Given the description of an element on the screen output the (x, y) to click on. 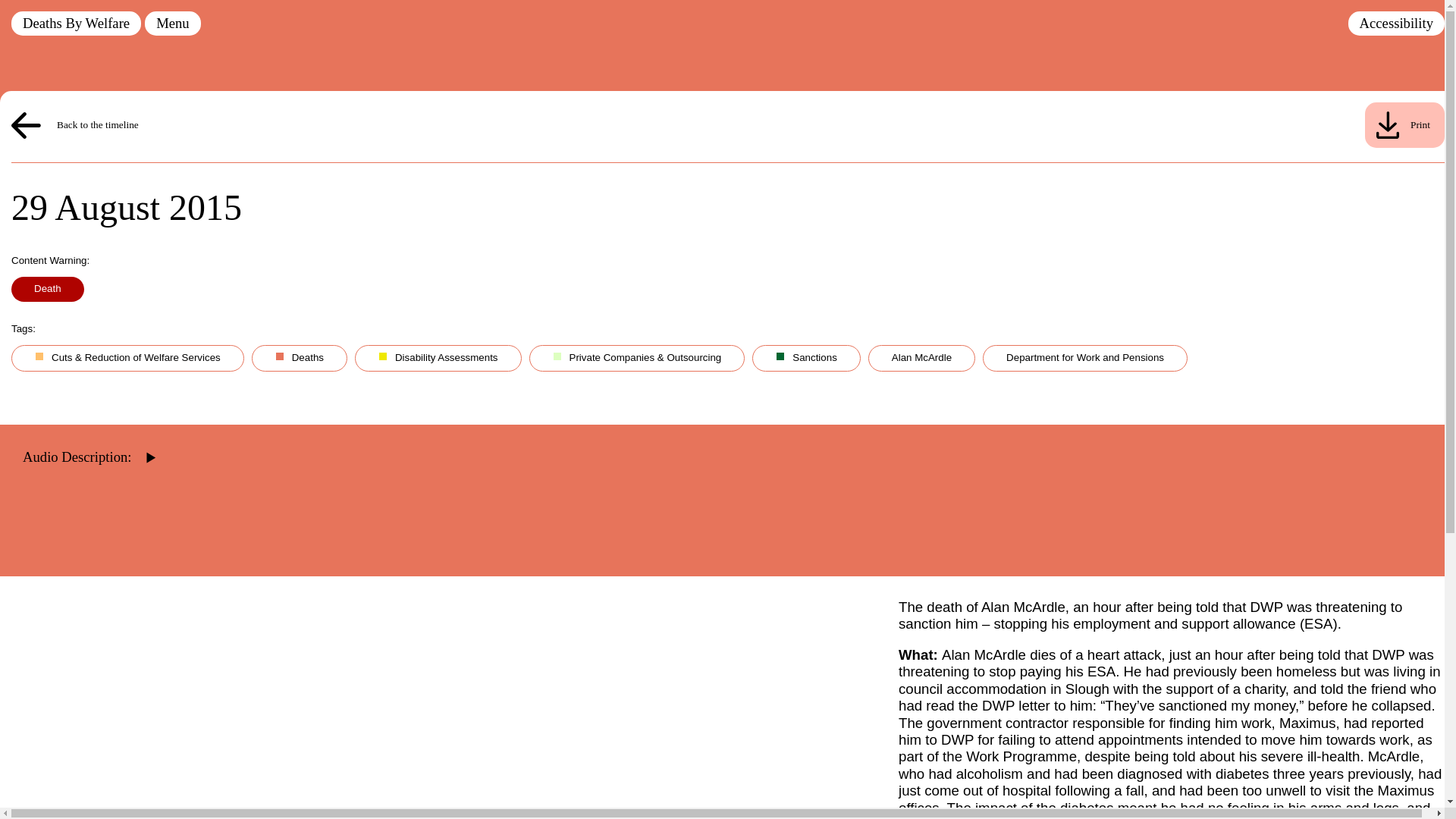
Print (1404, 125)
Disability Assessments (442, 361)
Department for Work and Pensions (1088, 361)
Listen to this page using ReadSpeaker webReader (84, 434)
Sanctions (809, 361)
Menu (172, 23)
Deaths By Welfare (76, 23)
Accessibility (1396, 23)
Deaths (303, 361)
Audio Description: (84, 434)
Alan McArdle (924, 361)
